Given the description of an element on the screen output the (x, y) to click on. 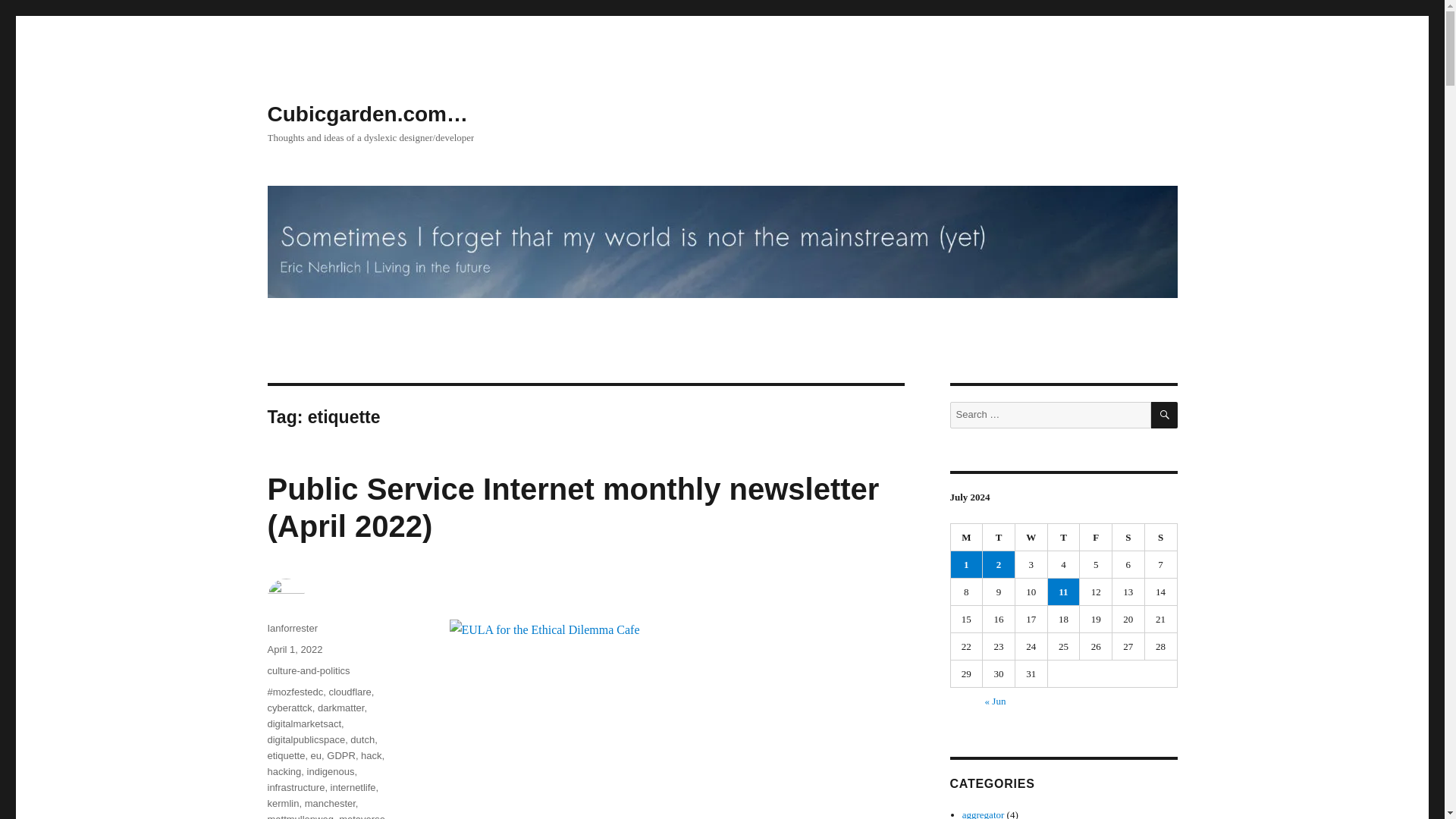
GDPR (340, 755)
April 1, 2022 (293, 649)
culture-and-politics (307, 670)
etiquette (285, 755)
hacking (283, 771)
hack (371, 755)
dutch (362, 739)
eu (316, 755)
cloudflare (350, 691)
digitalpublicspace (305, 739)
digitalmarketsact (303, 723)
darkmatter (340, 707)
cyberattck (288, 707)
Ianforrester (291, 627)
